Given the description of an element on the screen output the (x, y) to click on. 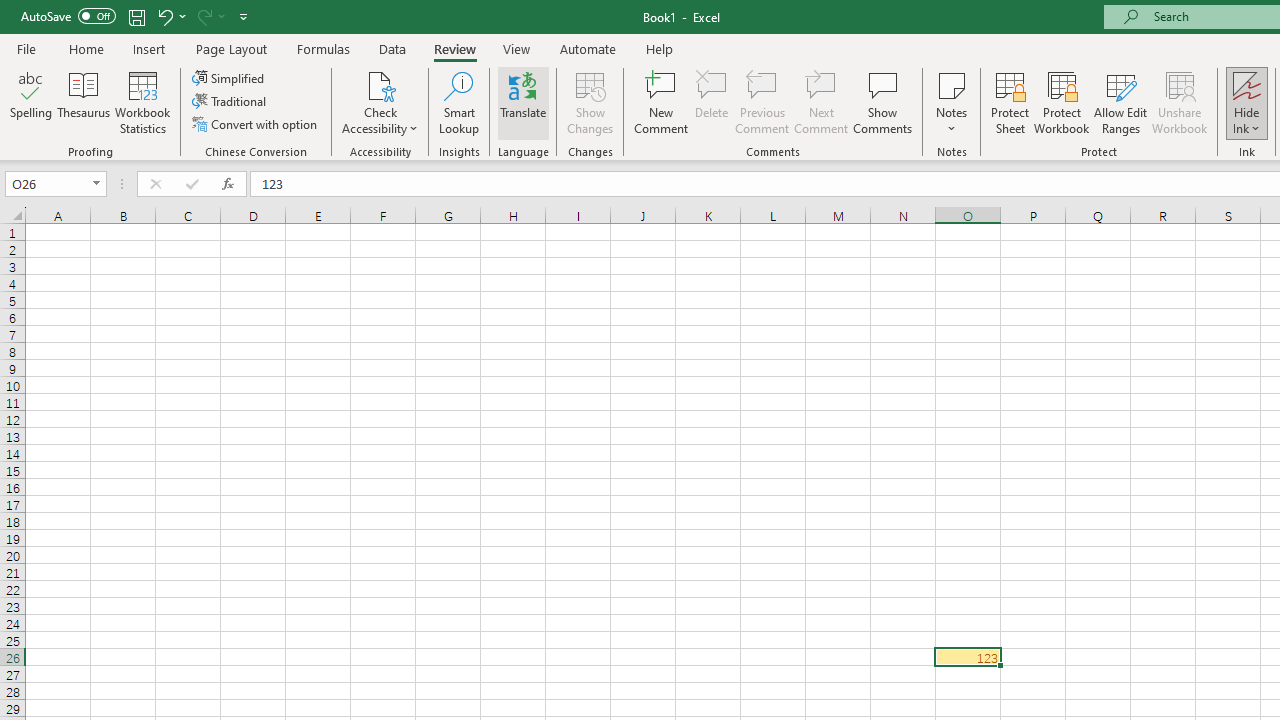
Delete (712, 102)
Traditional (230, 101)
Notes (951, 102)
Previous Comment (762, 102)
Next Comment (821, 102)
Spelling... (31, 102)
